Given the description of an element on the screen output the (x, y) to click on. 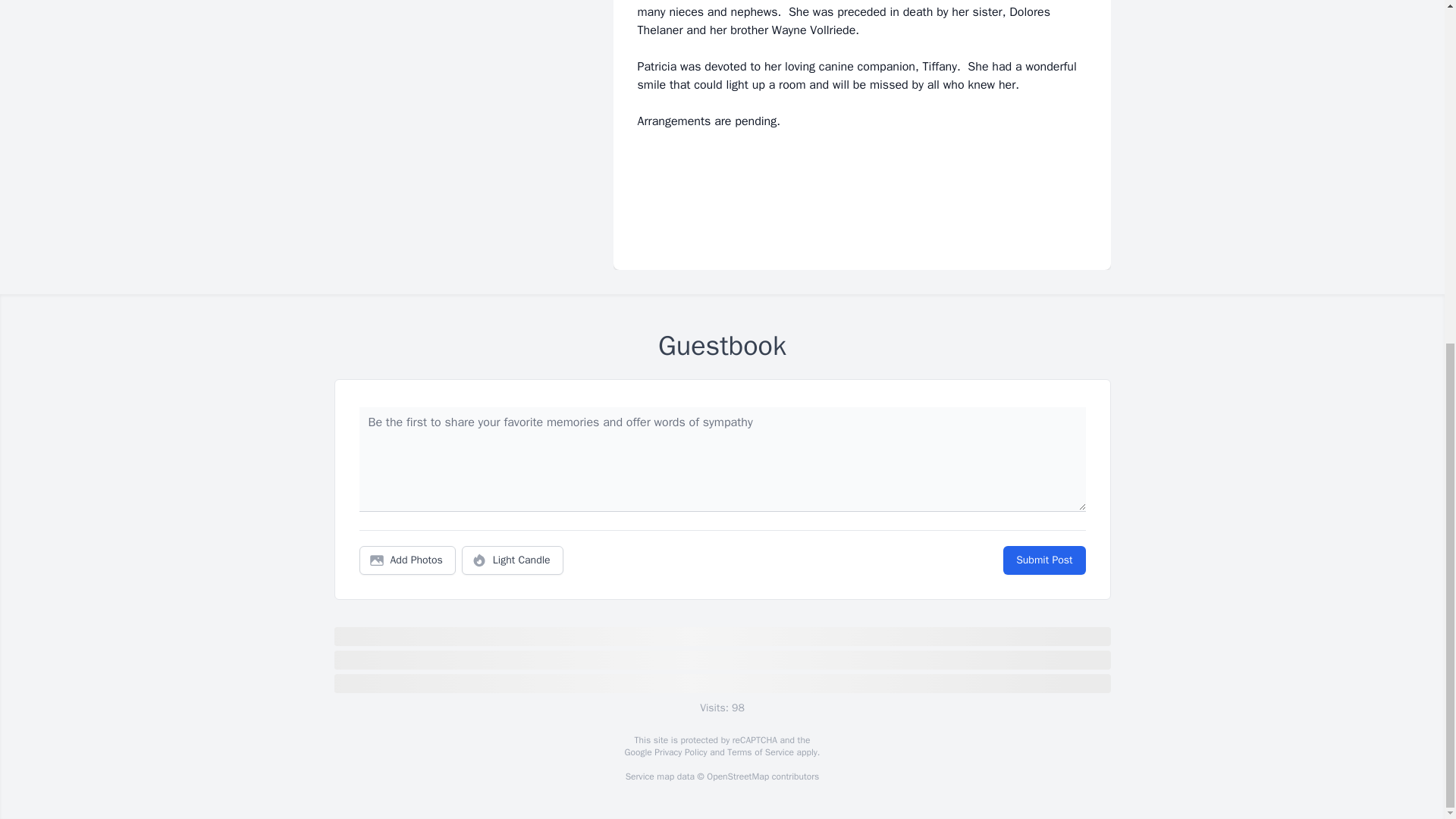
Privacy Policy (679, 752)
Submit Post (1043, 560)
Light Candle (512, 560)
Terms of Service (759, 752)
OpenStreetMap (737, 776)
Add Photos (407, 560)
